Given the description of an element on the screen output the (x, y) to click on. 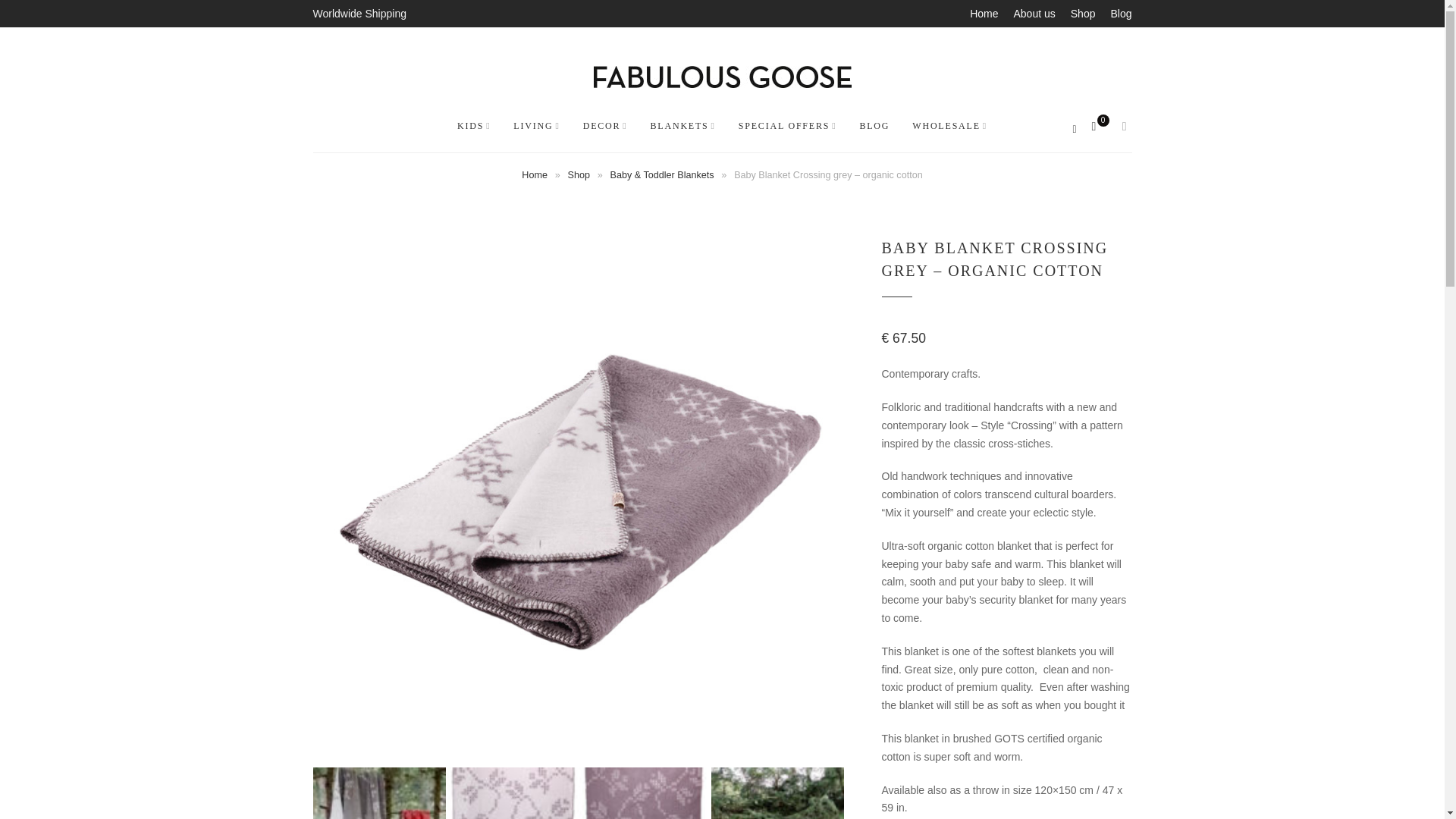
DECOR (605, 125)
About us (1033, 13)
Soft organic cotton blanket with Crossing design pattern (379, 793)
WHOLESALE (949, 125)
Home (983, 13)
BLOG (874, 125)
Home (534, 174)
BLANKETS (683, 125)
Search (79, 15)
Blog (1120, 13)
